Given the description of an element on the screen output the (x, y) to click on. 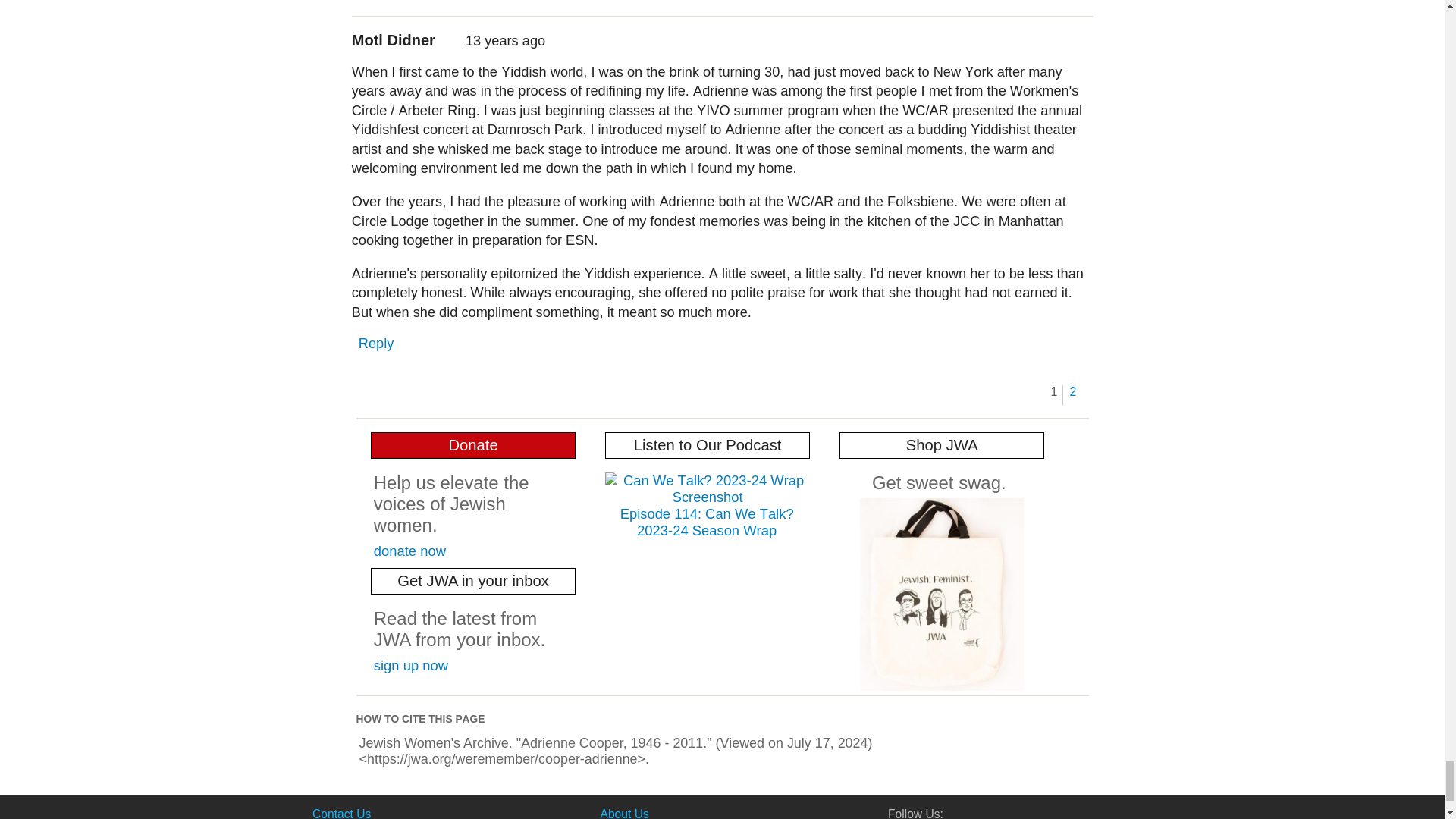
Current page (1054, 391)
Go to page 2 (1071, 391)
